Given the description of an element on the screen output the (x, y) to click on. 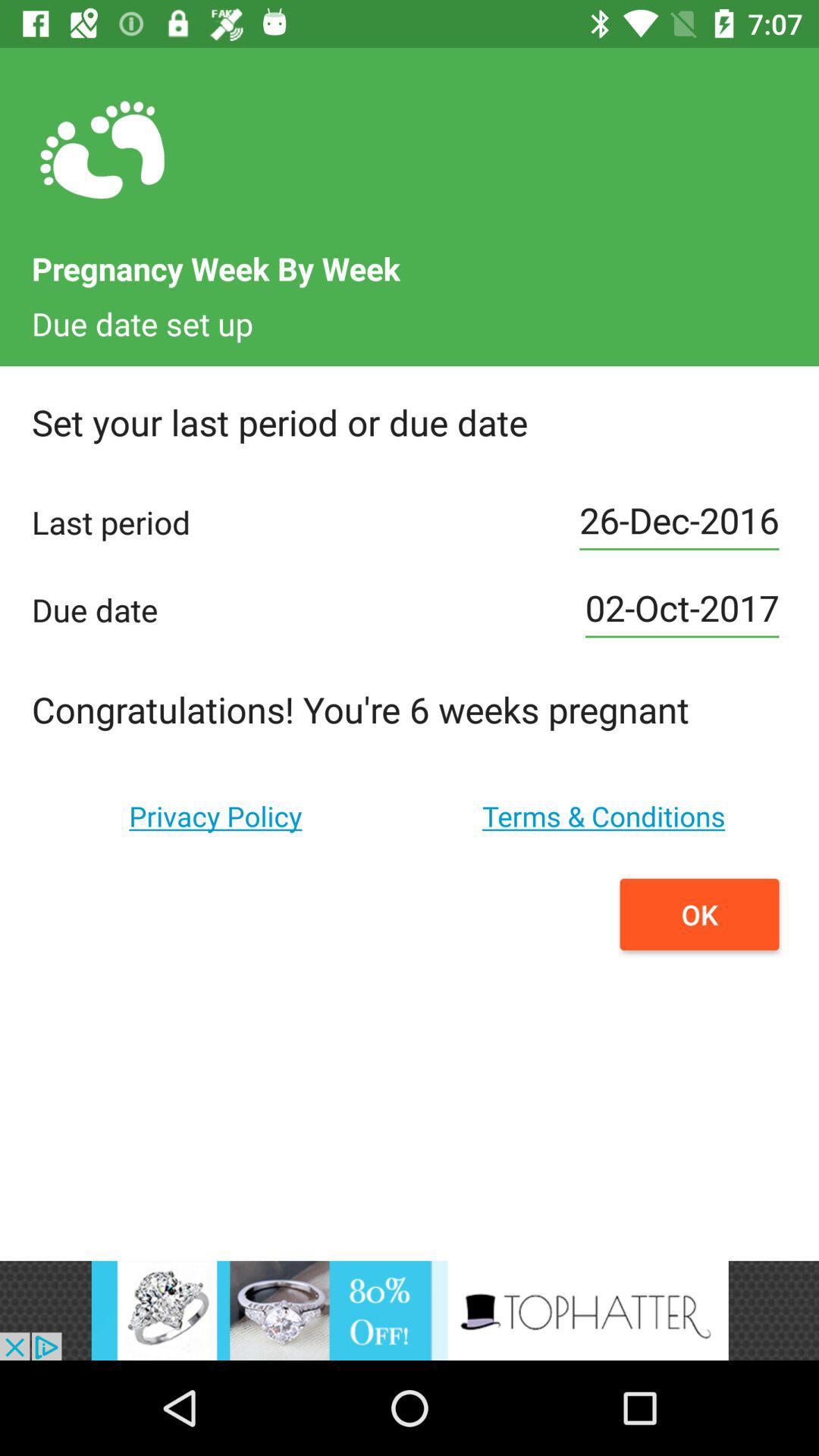
select the logo of the page at top left corner (103, 151)
click on privacy policy (215, 815)
select the 2nd text field on the web page (682, 609)
